Given the description of an element on the screen output the (x, y) to click on. 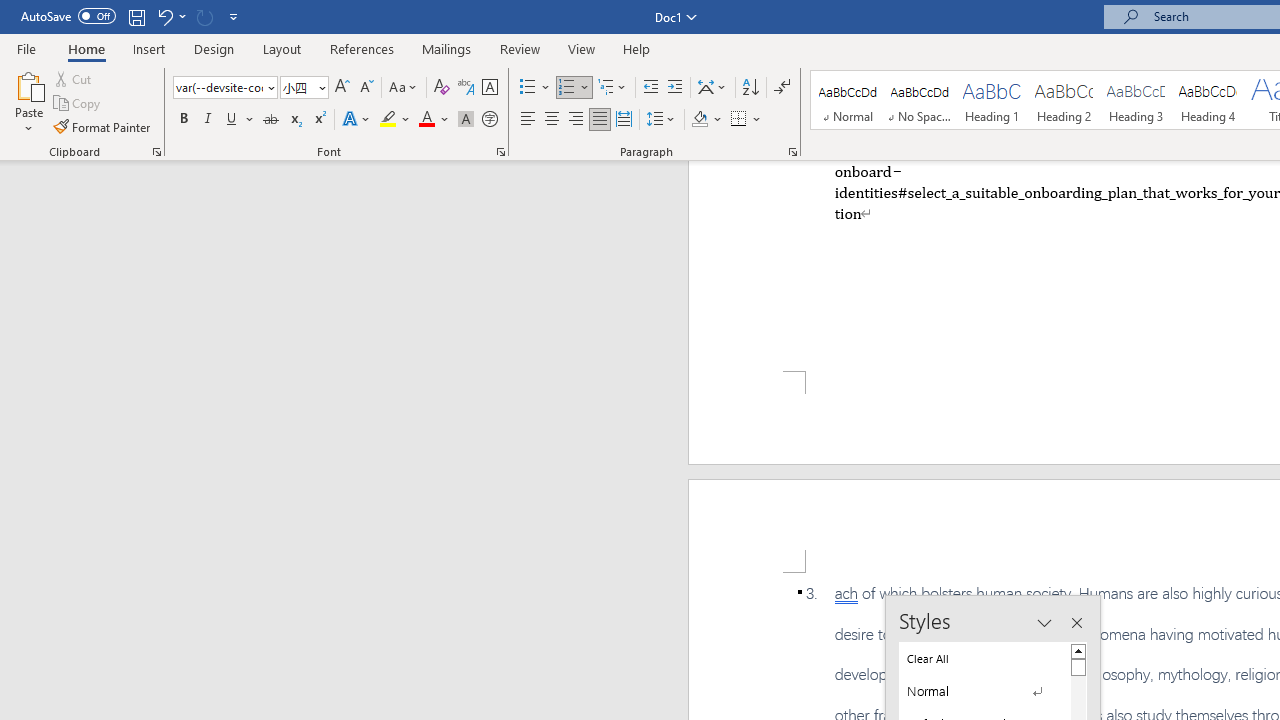
Open (320, 87)
Customize Quick Access Toolbar (234, 15)
Shading RGB(0, 0, 0) (699, 119)
Office Clipboard... (156, 151)
Layout (282, 48)
Font... (500, 151)
Borders (746, 119)
Bullets (527, 87)
More Options (757, 119)
Font Color Automatic (426, 119)
Text Effects and Typography (357, 119)
Font Size (297, 87)
Quick Access Toolbar (131, 16)
Heading 1 (991, 100)
Increase Indent (675, 87)
